Given the description of an element on the screen output the (x, y) to click on. 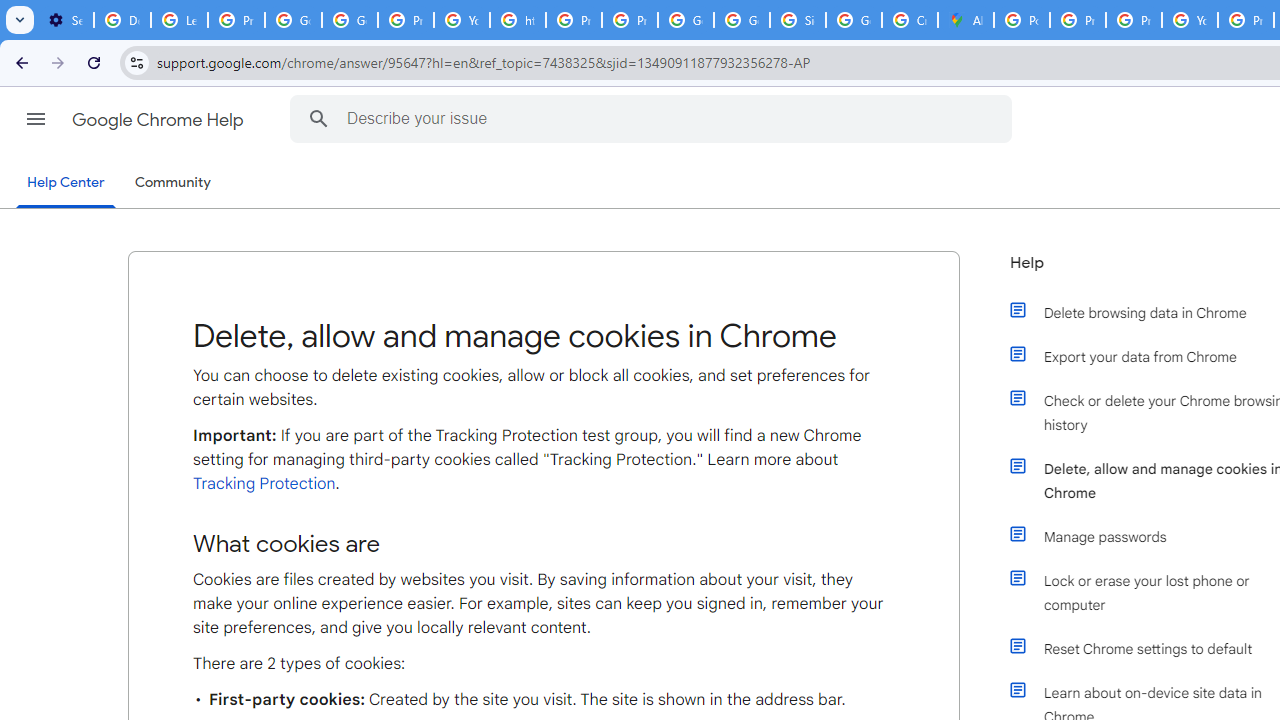
Main menu (35, 119)
Google Account Help (293, 20)
Privacy Help Center - Policies Help (573, 20)
Help Center (65, 183)
Create your Google Account (909, 20)
Privacy Help Center - Policies Help (1133, 20)
Learn how to find your photos - Google Photos Help (179, 20)
